Given the description of an element on the screen output the (x, y) to click on. 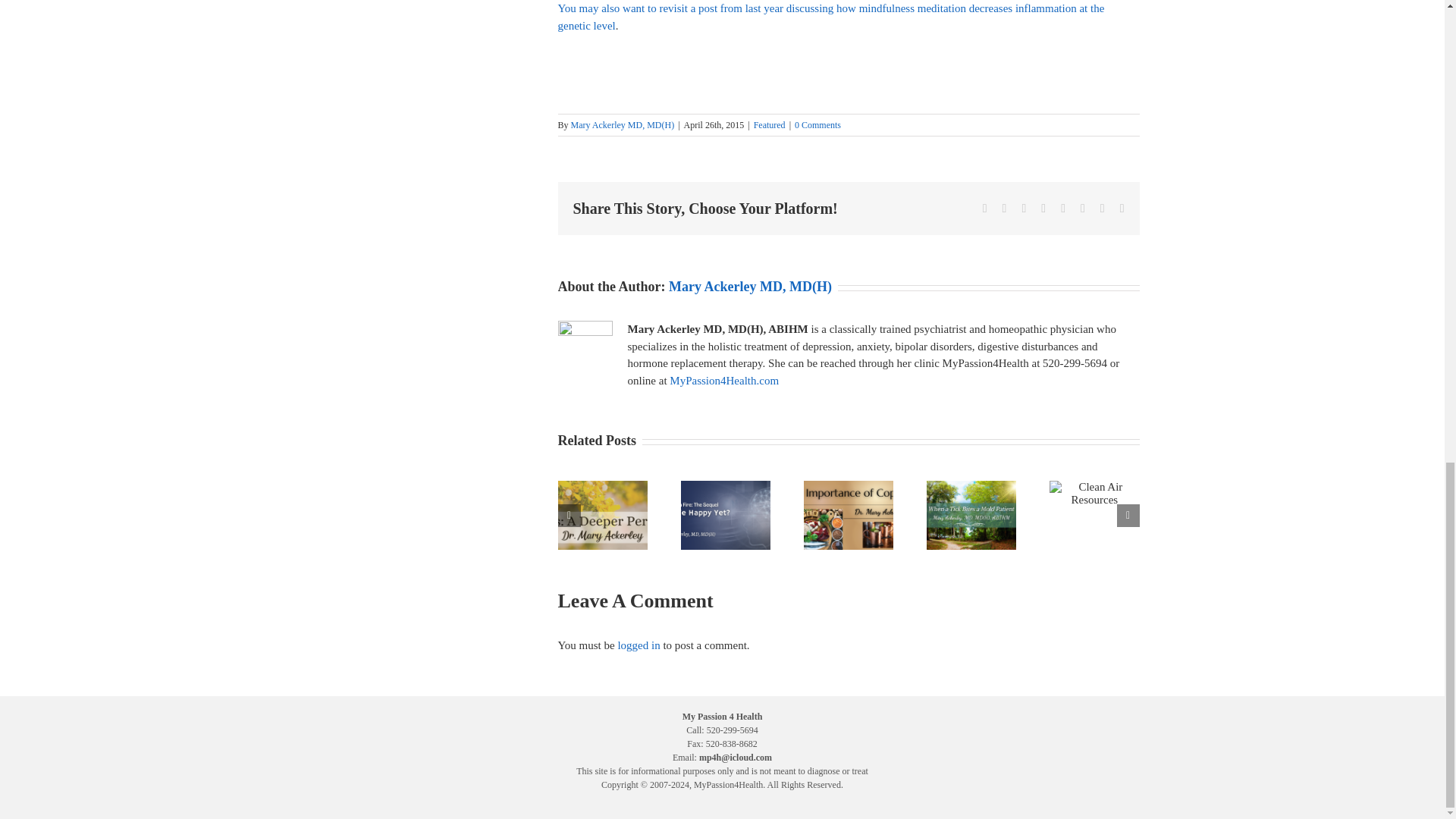
Featured (770, 124)
0 Comments (817, 124)
MyPassion4Health.com (723, 380)
